Given the description of an element on the screen output the (x, y) to click on. 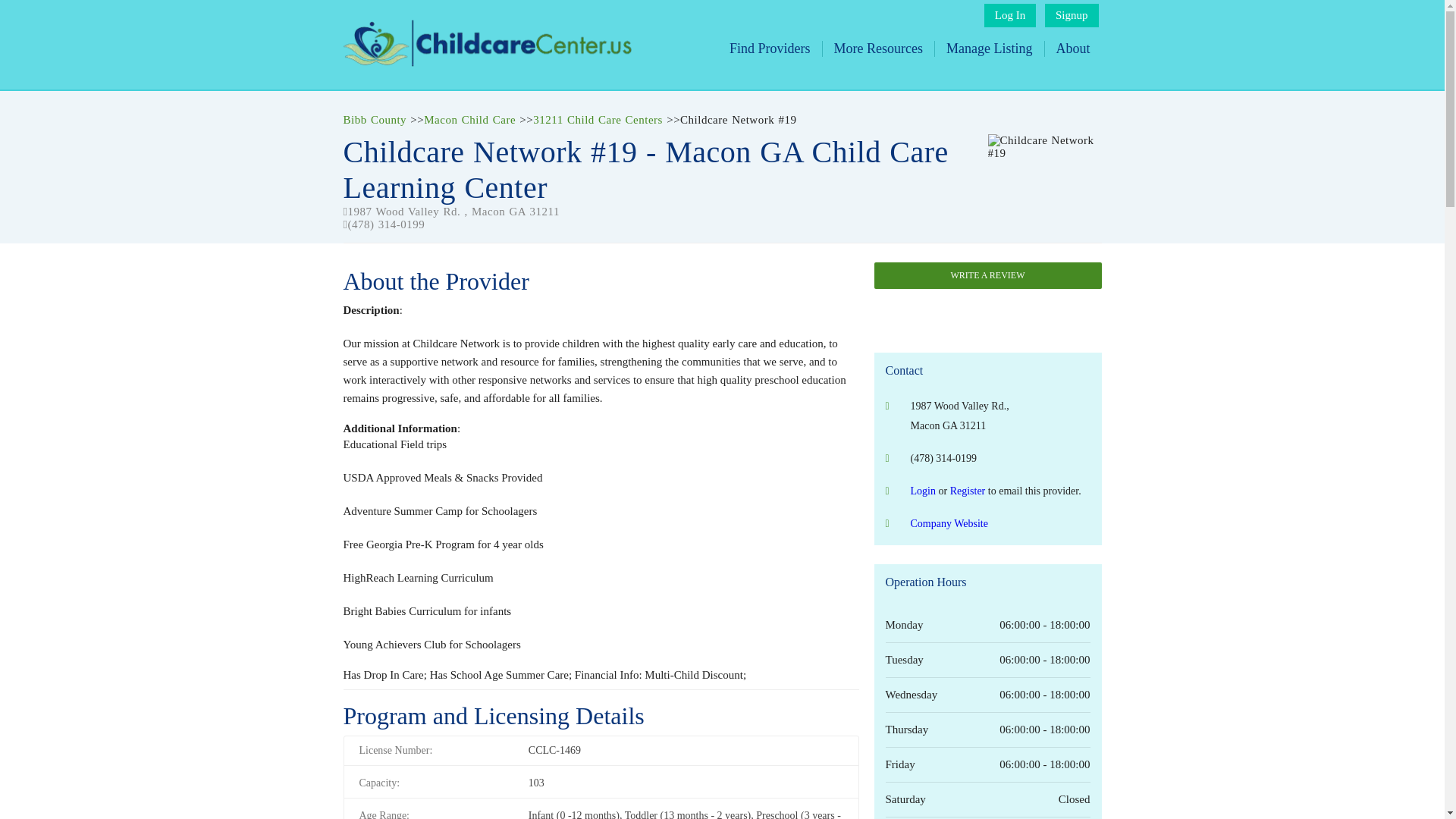
Bibb County (374, 119)
Macon Child Care (469, 119)
Log In (1009, 15)
Find Providers (769, 48)
31211 Child Care Centers (597, 119)
Signup (1072, 15)
Log In (1009, 15)
More Resources (878, 48)
About (1072, 48)
Childcare Center, Preschools, and Home Daycare (486, 62)
